Given the description of an element on the screen output the (x, y) to click on. 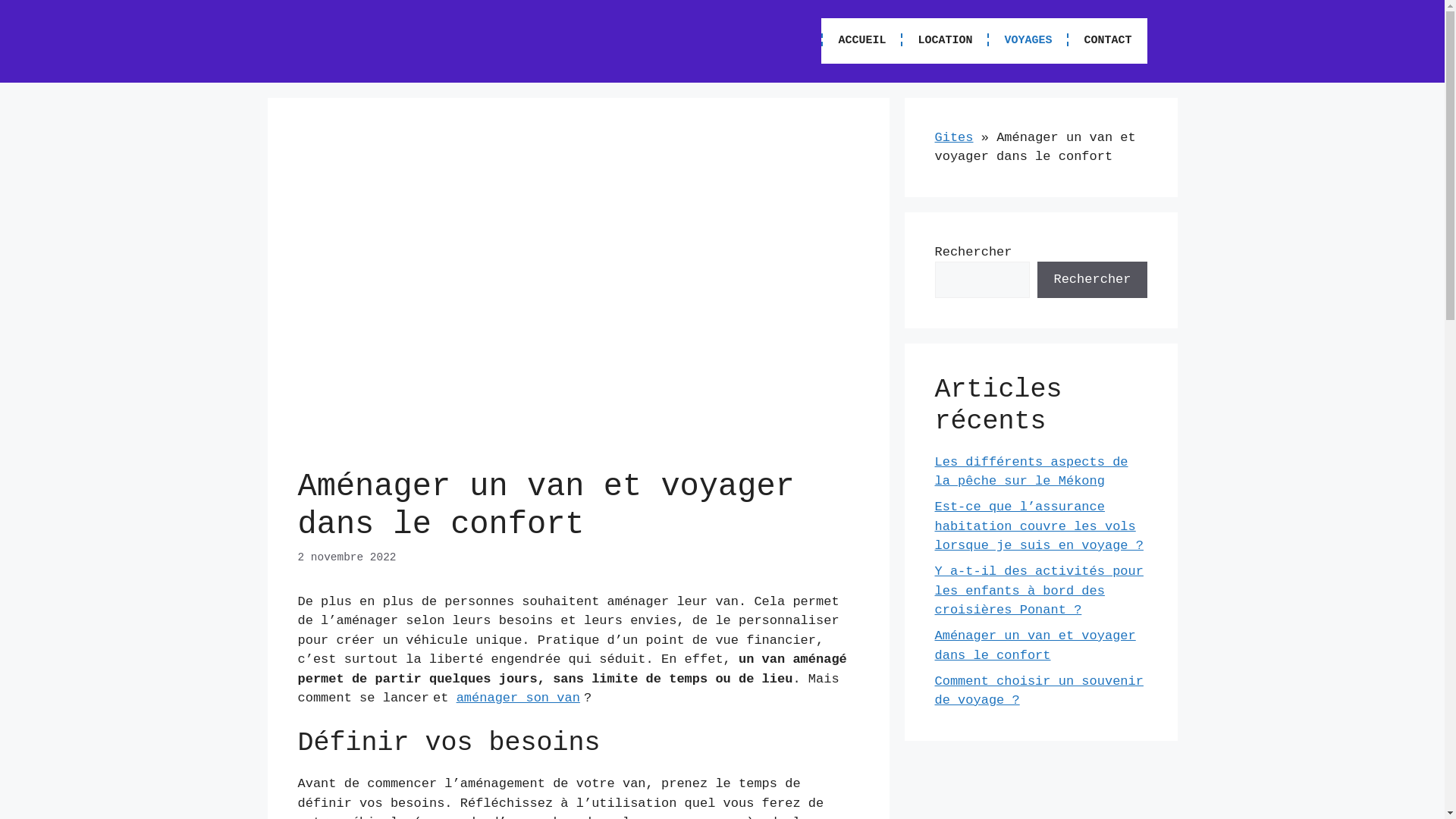
Gites Element type: text (953, 137)
Comment choisir un souvenir de voyage ? Element type: text (1038, 691)
VOYAGES Element type: text (1026, 40)
CONTACT Element type: text (1106, 40)
Rechercher Element type: text (1091, 279)
LOCATION Element type: text (943, 40)
ACCUEIL Element type: text (860, 40)
